Given the description of an element on the screen output the (x, y) to click on. 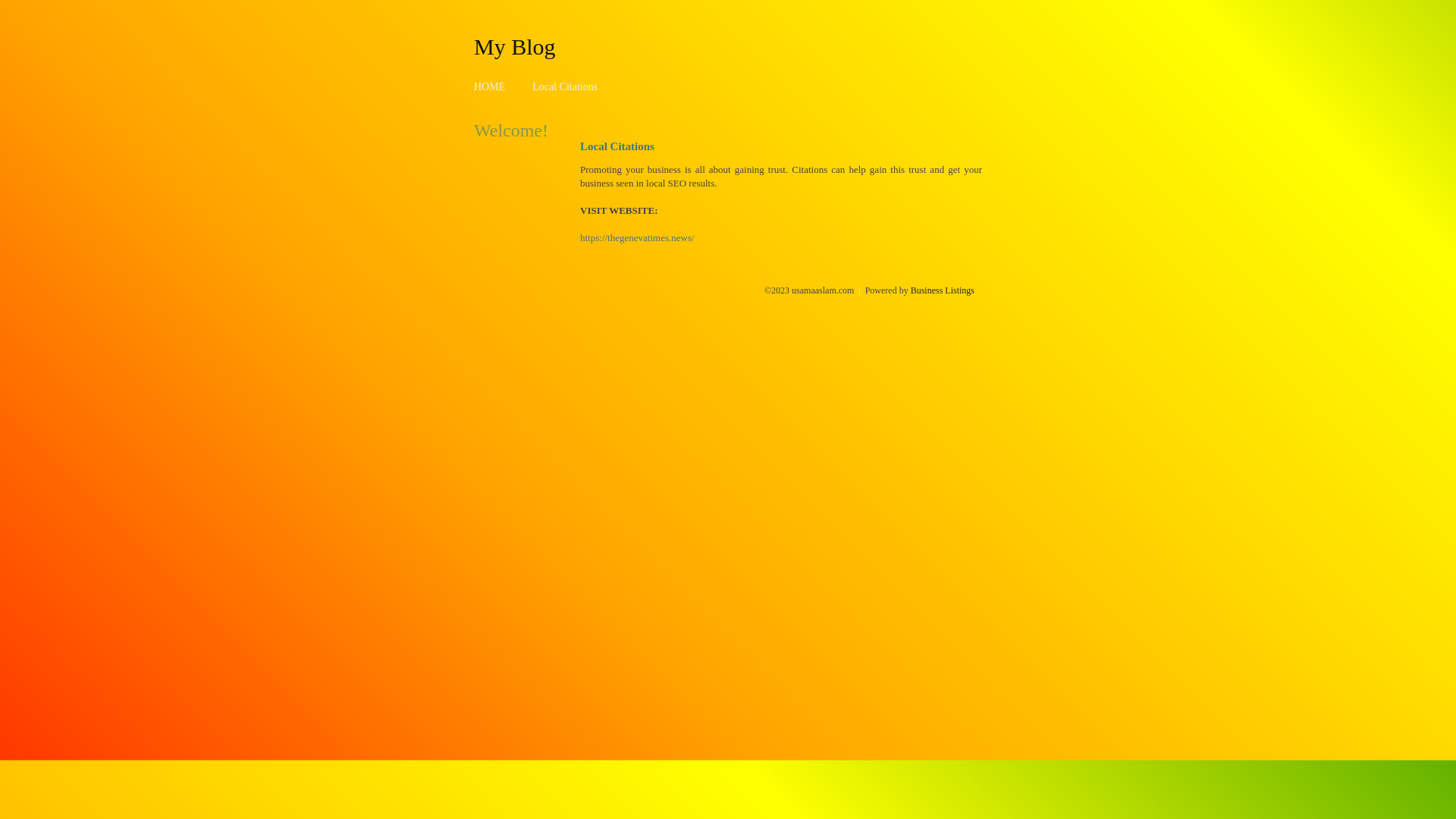
HOME Element type: text (489, 86)
My Blog Element type: text (514, 46)
Local Citations Element type: text (564, 86)
Business Listings Element type: text (942, 290)
https://thegenevatimes.news/ Element type: text (637, 237)
